Given the description of an element on the screen output the (x, y) to click on. 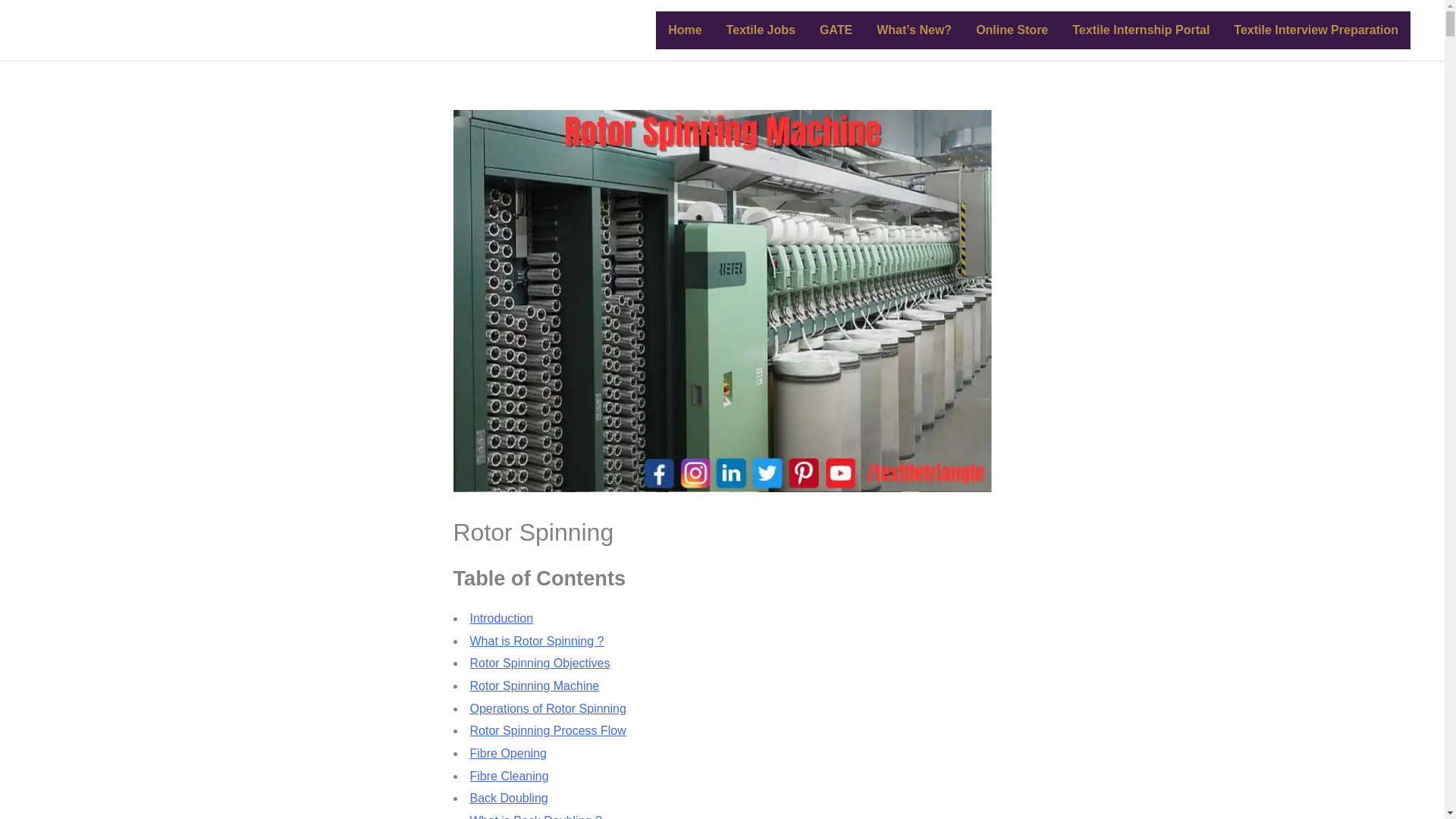
Rotor Spinning Machine (534, 685)
Introduction (502, 617)
Rotor Spinning Objectives (540, 662)
Fibre Opening (508, 753)
What is Back Doubling ? (536, 816)
Fibre Cleaning (509, 775)
What is Rotor Spinning ? (537, 640)
Home (684, 30)
Textile Internship Portal (1140, 30)
GATE (836, 30)
